Given the description of an element on the screen output the (x, y) to click on. 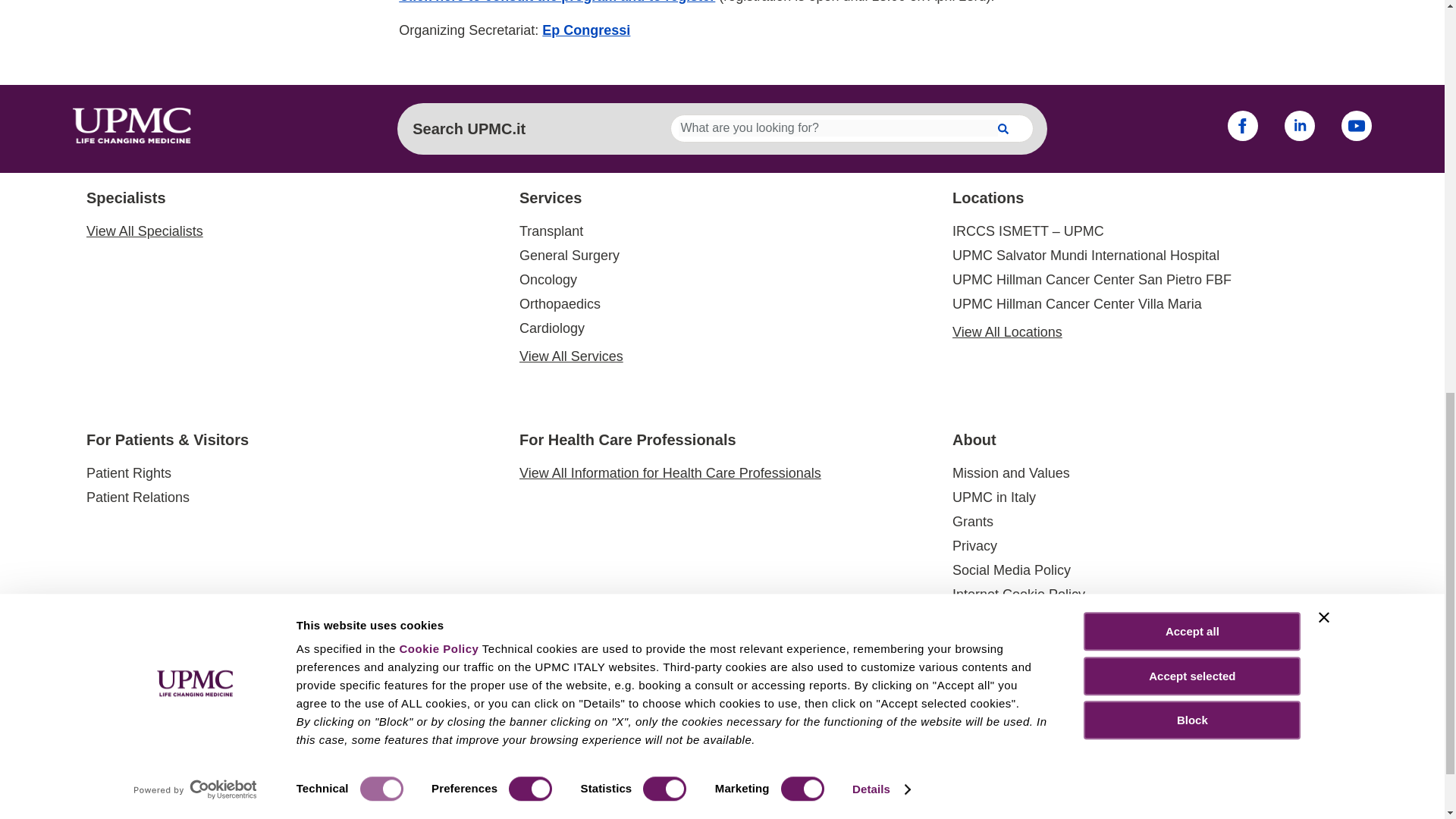
Click here to consult the program and to register. (556, 2)
UPMC (131, 138)
Learn more about Organizing Secretariat: Ep Congressi. (585, 29)
